Given the description of an element on the screen output the (x, y) to click on. 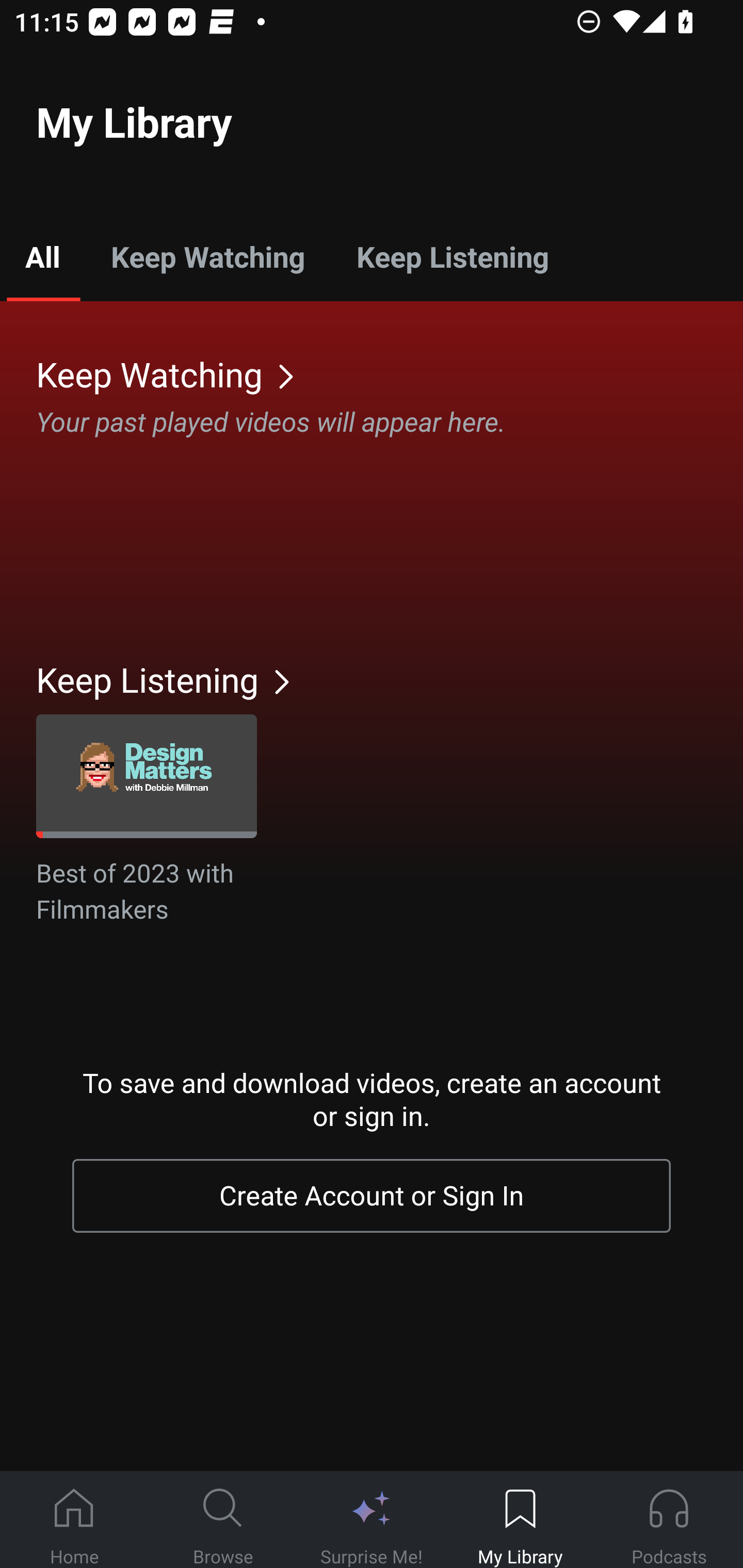
All (42, 256)
Keep Watching (207, 256)
Keep Listening (452, 256)
Keep Watching (389, 373)
Keep Listening (389, 679)
Best of 2023 with Filmmakers (146, 820)
Create Account or Sign In (371, 1195)
Home (74, 1520)
Browse (222, 1520)
Surprise Me! (371, 1520)
My Library (519, 1520)
Podcasts (668, 1520)
